Given the description of an element on the screen output the (x, y) to click on. 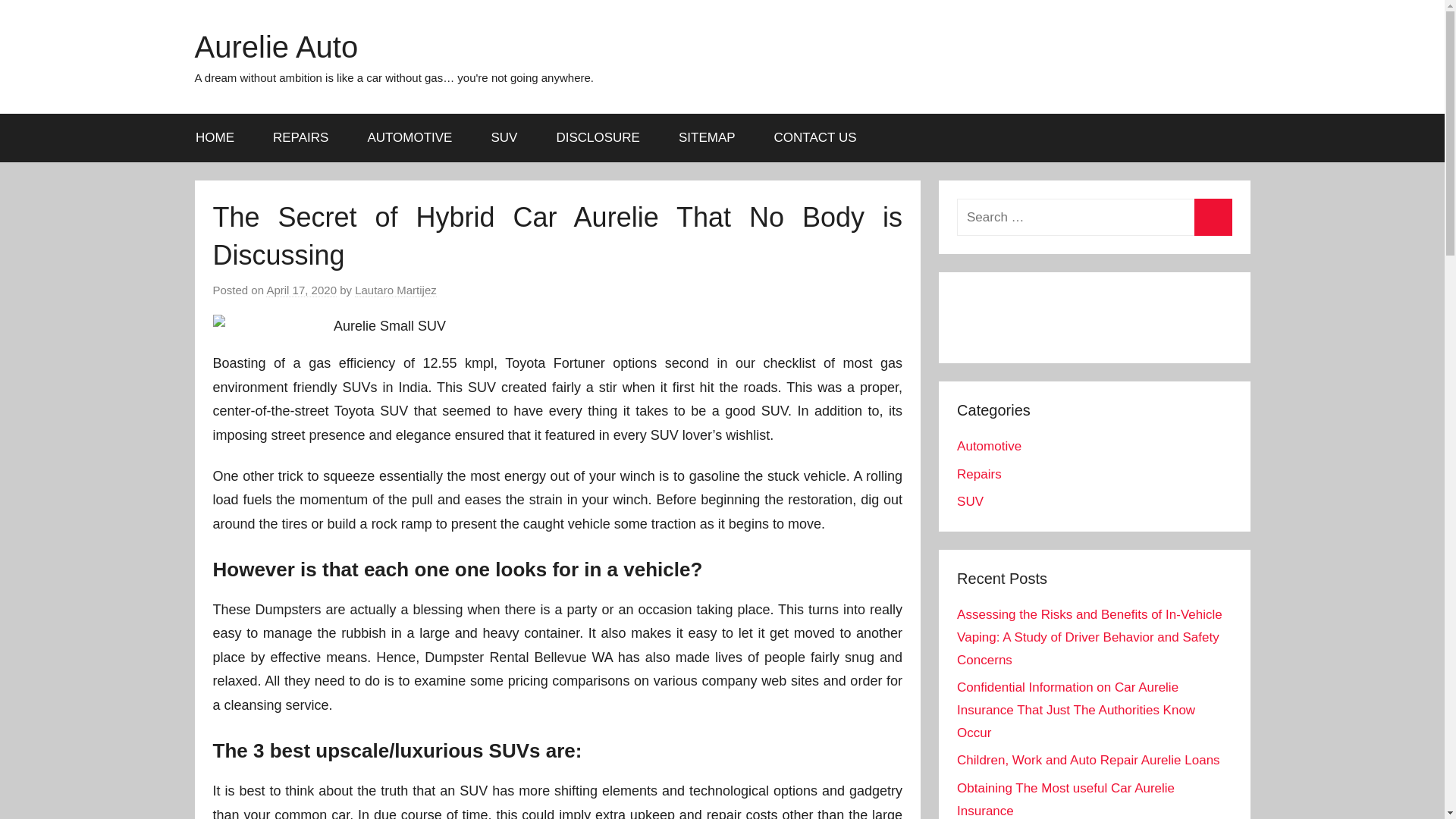
AUTOMOTIVE (409, 137)
REPAIRS (300, 137)
SUV (504, 137)
HOME (214, 137)
Repairs (978, 473)
Children, Work and Auto Repair Aurelie Loans (1088, 759)
Automotive (989, 445)
SITEMAP (706, 137)
DISCLOSURE (598, 137)
Obtaining The Most useful Car Aurelie Insurance (1065, 799)
Lautaro Martijez (395, 290)
Search for: (1093, 217)
Aurelie Auto (275, 46)
Search (1212, 217)
